Given the description of an element on the screen output the (x, y) to click on. 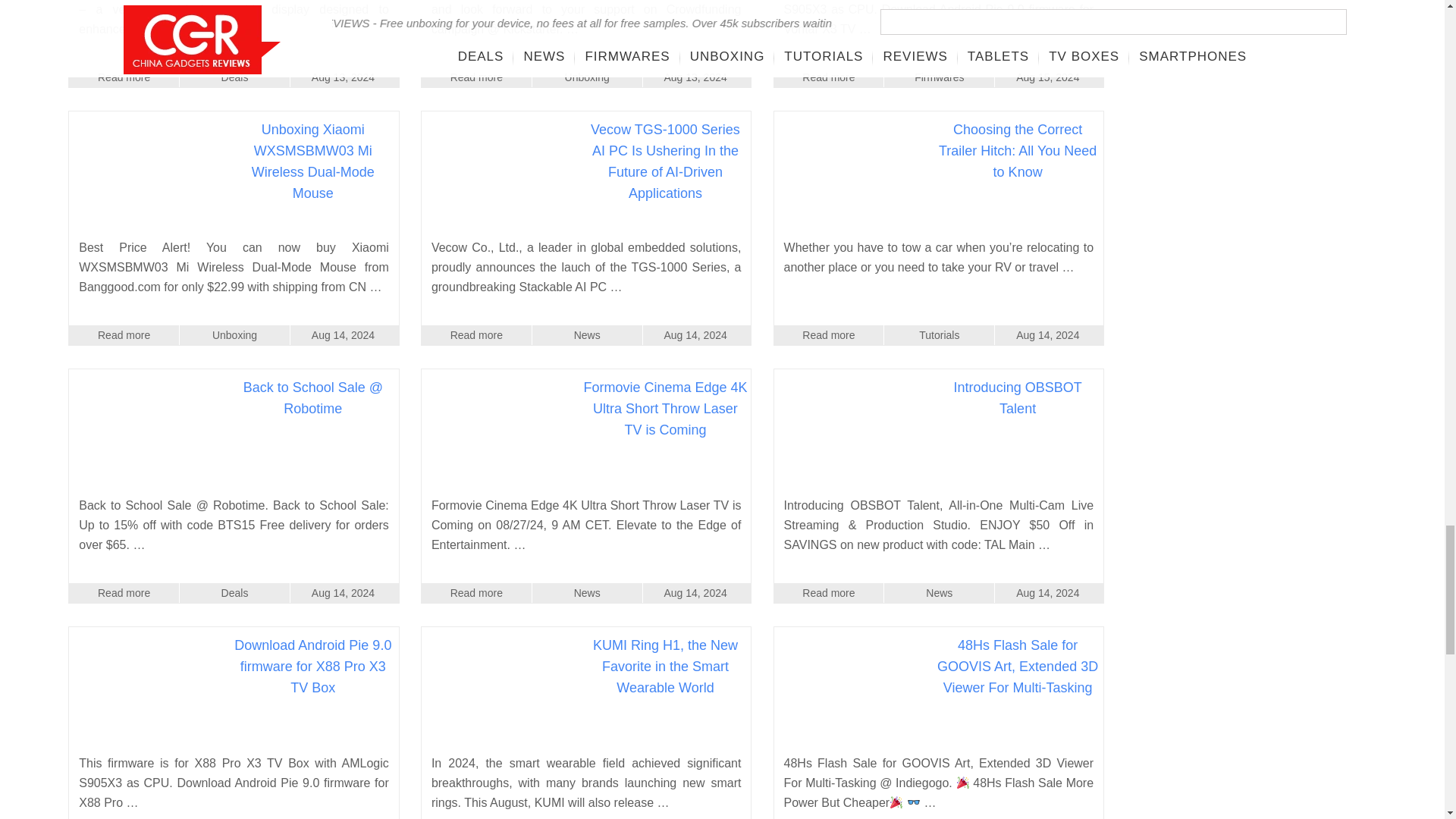
Deals (234, 76)
Read more (476, 76)
Read more (828, 76)
Read more (123, 76)
Unboxing (587, 76)
